Given the description of an element on the screen output the (x, y) to click on. 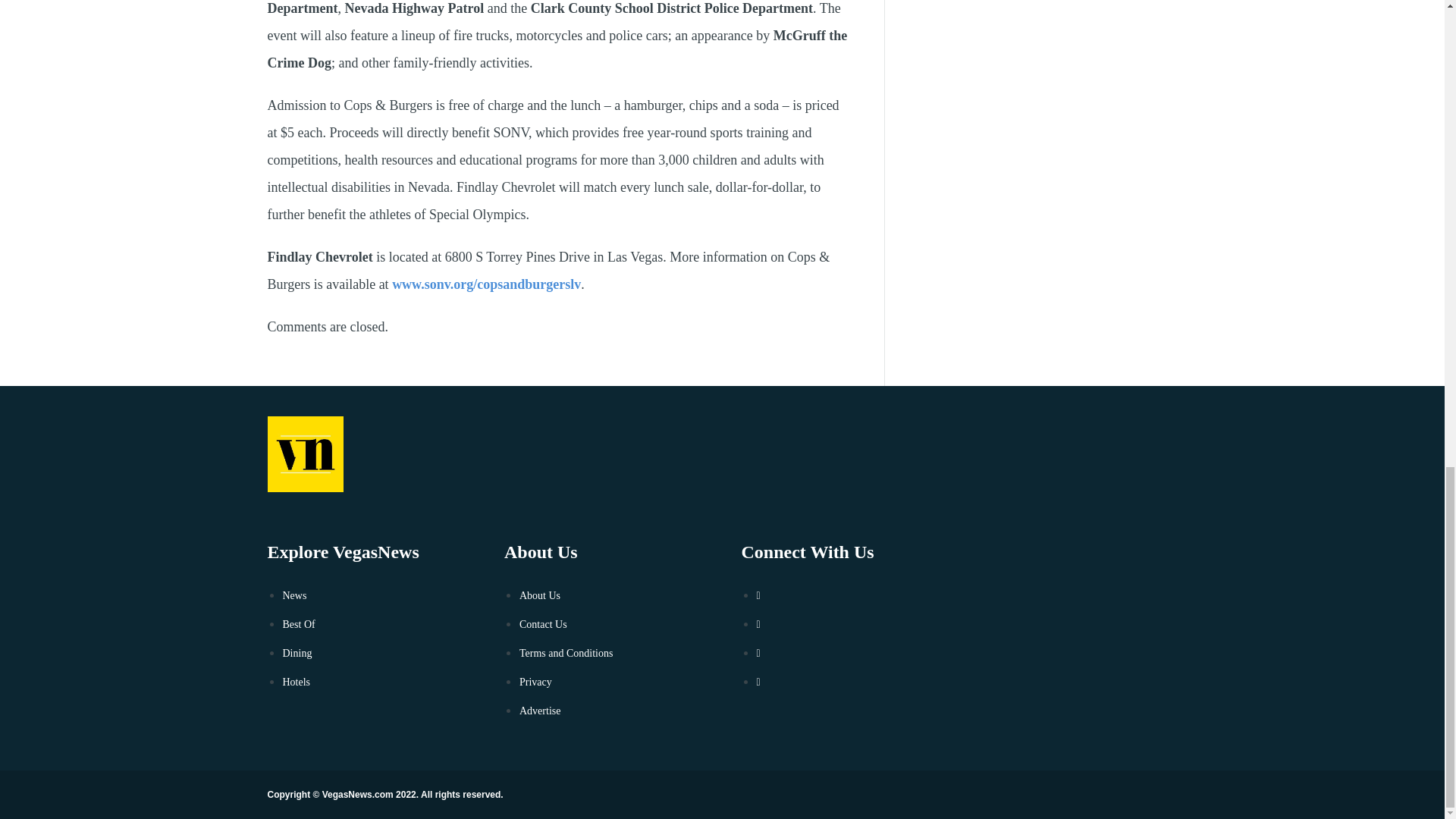
Advertise (539, 710)
Privacy (535, 681)
Terms and Conditions (565, 653)
Best Of (298, 624)
News (293, 595)
Contact Us (543, 624)
About Us (539, 595)
Hotels (296, 681)
Dining (296, 653)
